Given the description of an element on the screen output the (x, y) to click on. 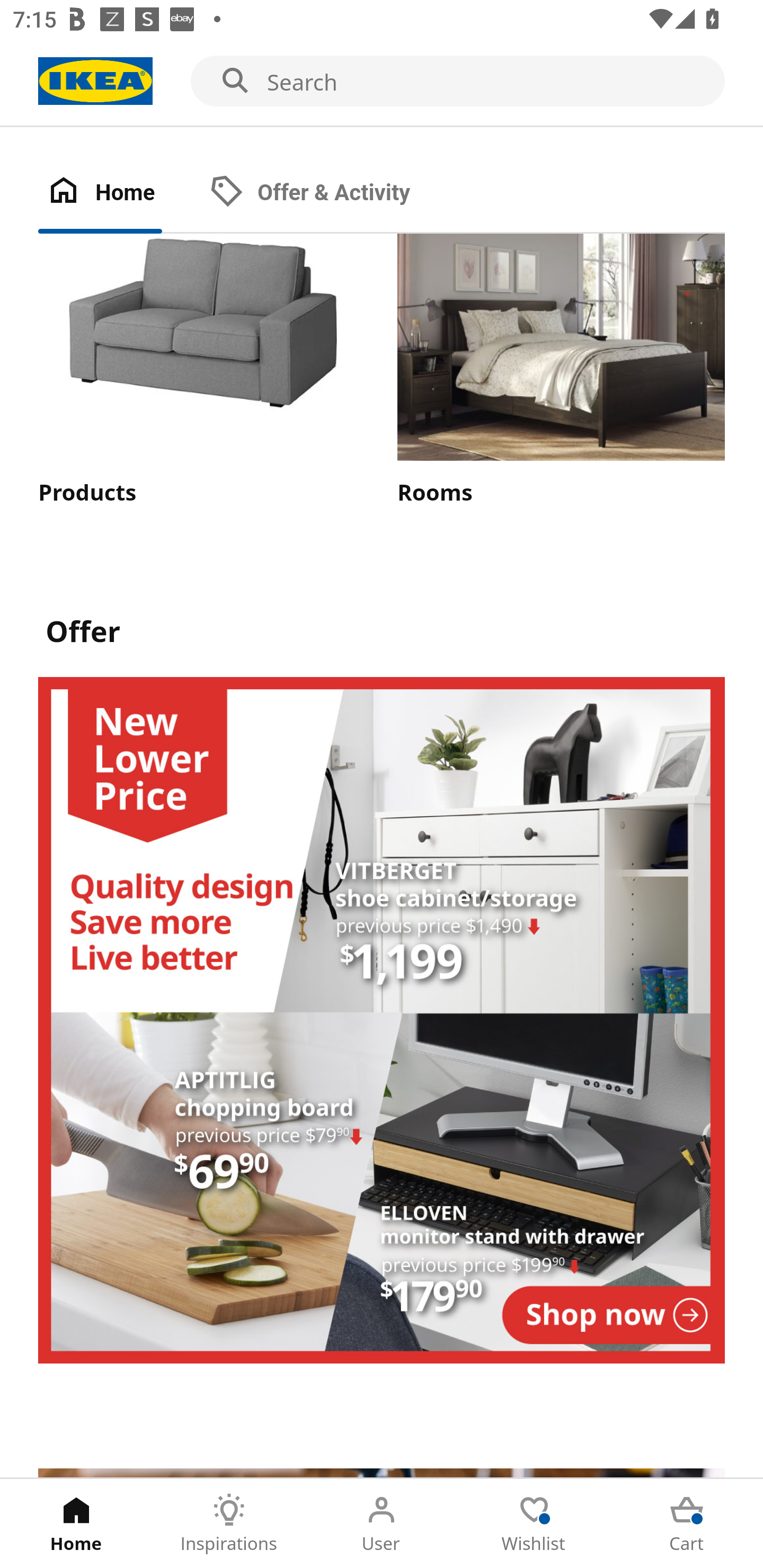
Search (381, 81)
Home
Tab 1 of 2 (118, 192)
Offer & Activity
Tab 2 of 2 (327, 192)
Products (201, 370)
Rooms (560, 370)
Home
Tab 1 of 5 (76, 1522)
Inspirations
Tab 2 of 5 (228, 1522)
User
Tab 3 of 5 (381, 1522)
Wishlist
Tab 4 of 5 (533, 1522)
Cart
Tab 5 of 5 (686, 1522)
